Given the description of an element on the screen output the (x, y) to click on. 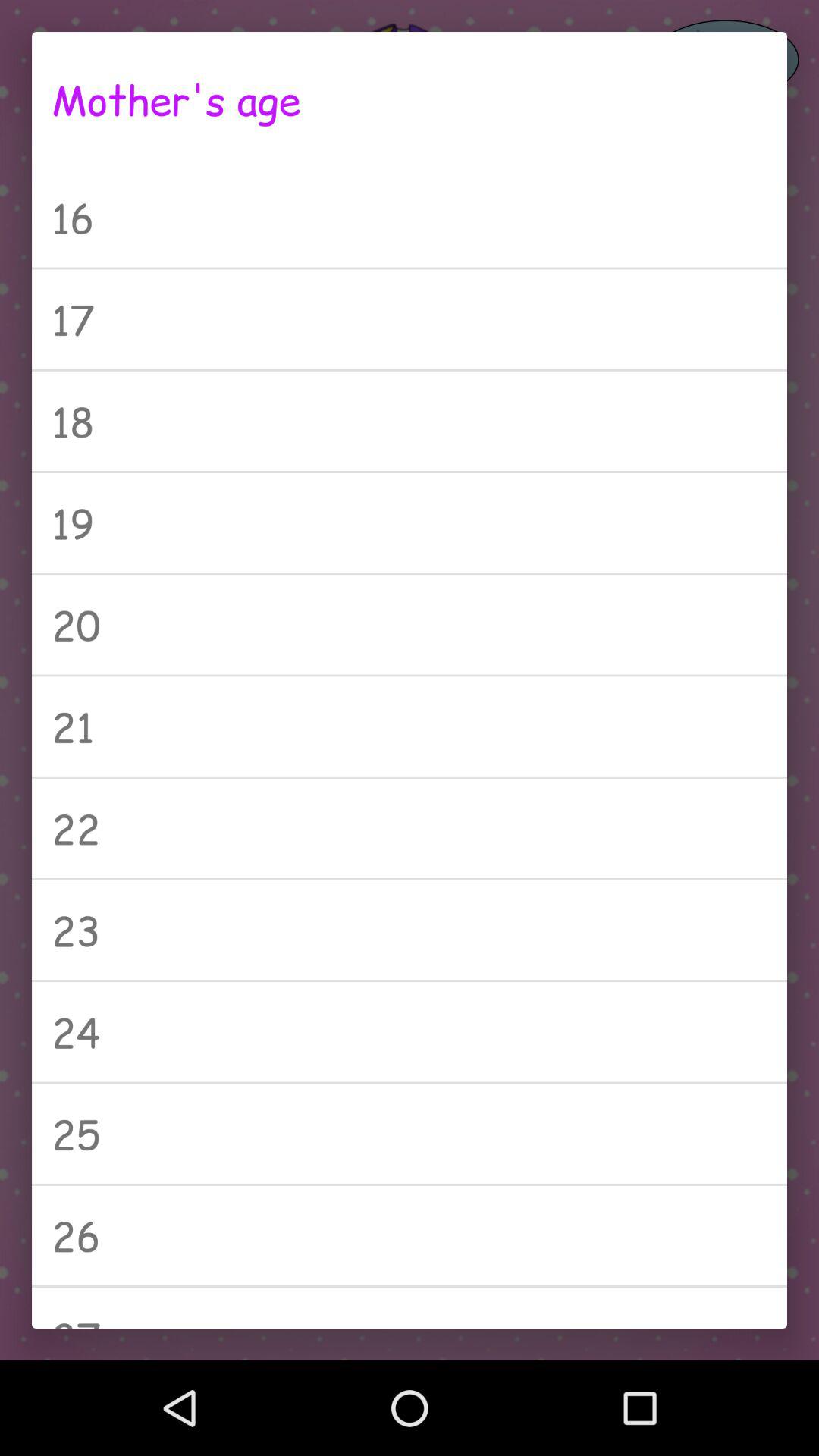
choose icon above the 22 item (409, 726)
